Given the description of an element on the screen output the (x, y) to click on. 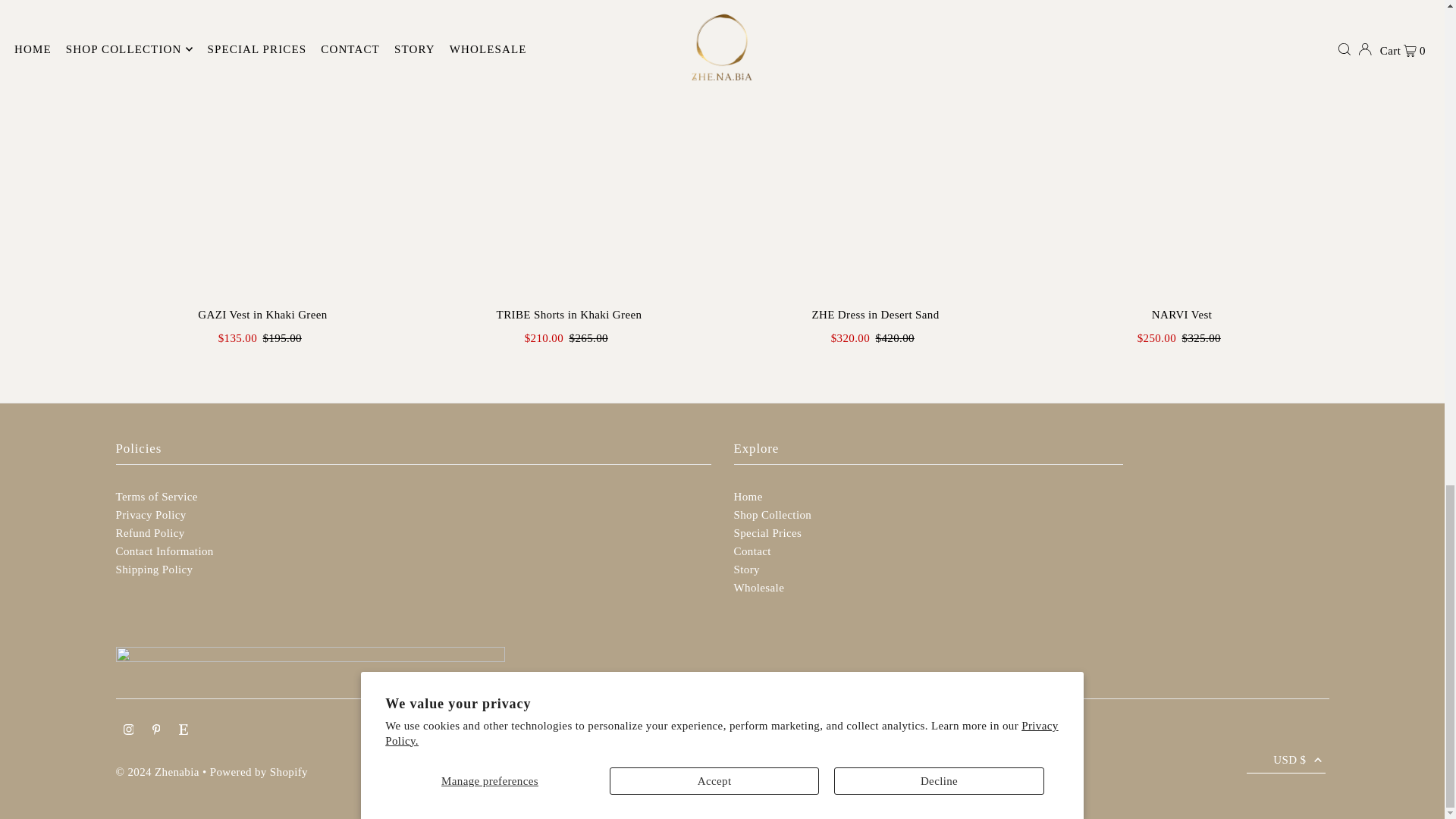
ZHE Dress in Desert Sand (875, 148)
GAZI Vest in Khaki Green (262, 148)
TRIBE Shorts in Khaki Green (569, 148)
NARVI Vest (1180, 148)
